Given the description of an element on the screen output the (x, y) to click on. 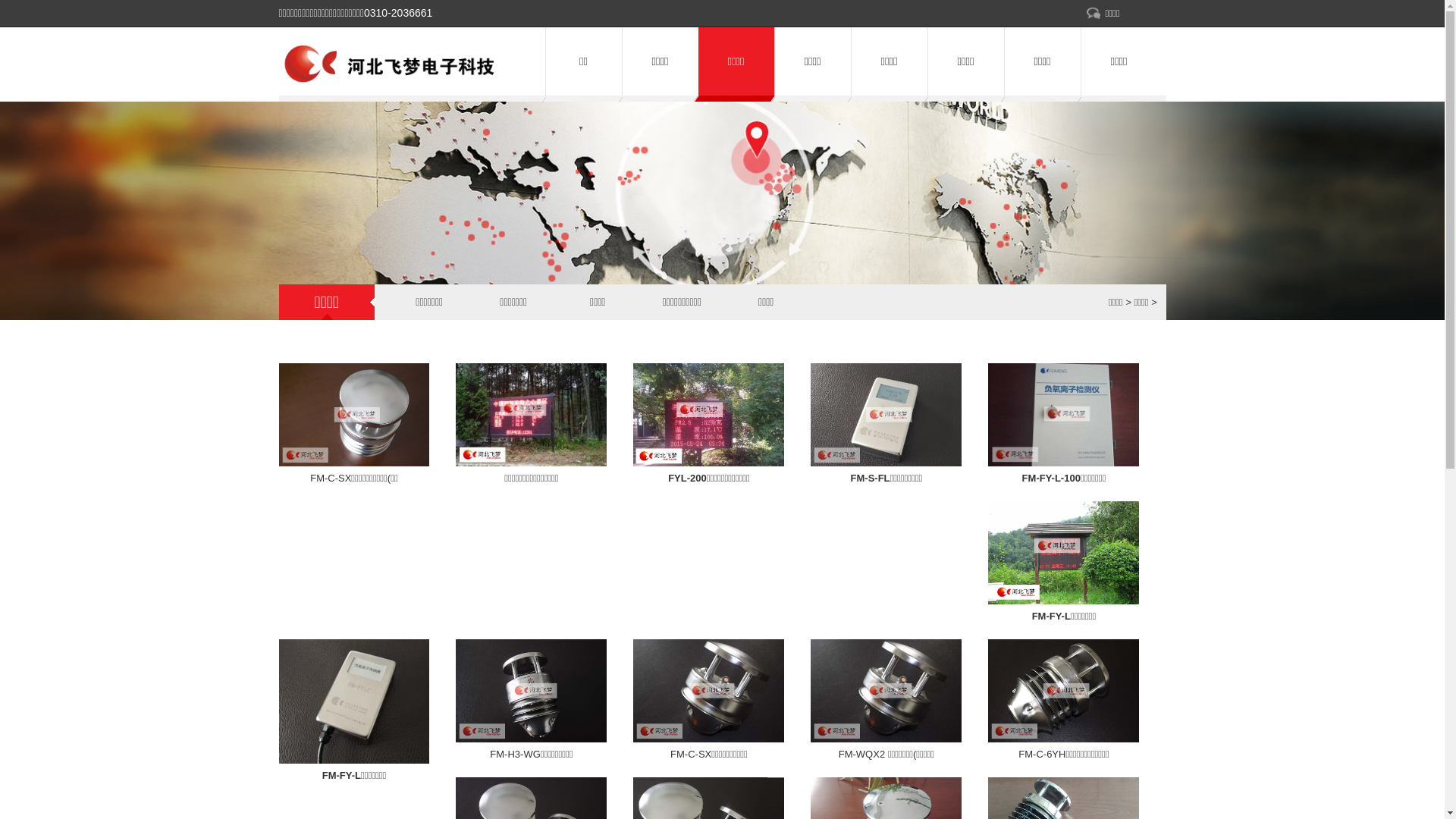
0310-2036661 Element type: text (398, 12)
